Given the description of an element on the screen output the (x, y) to click on. 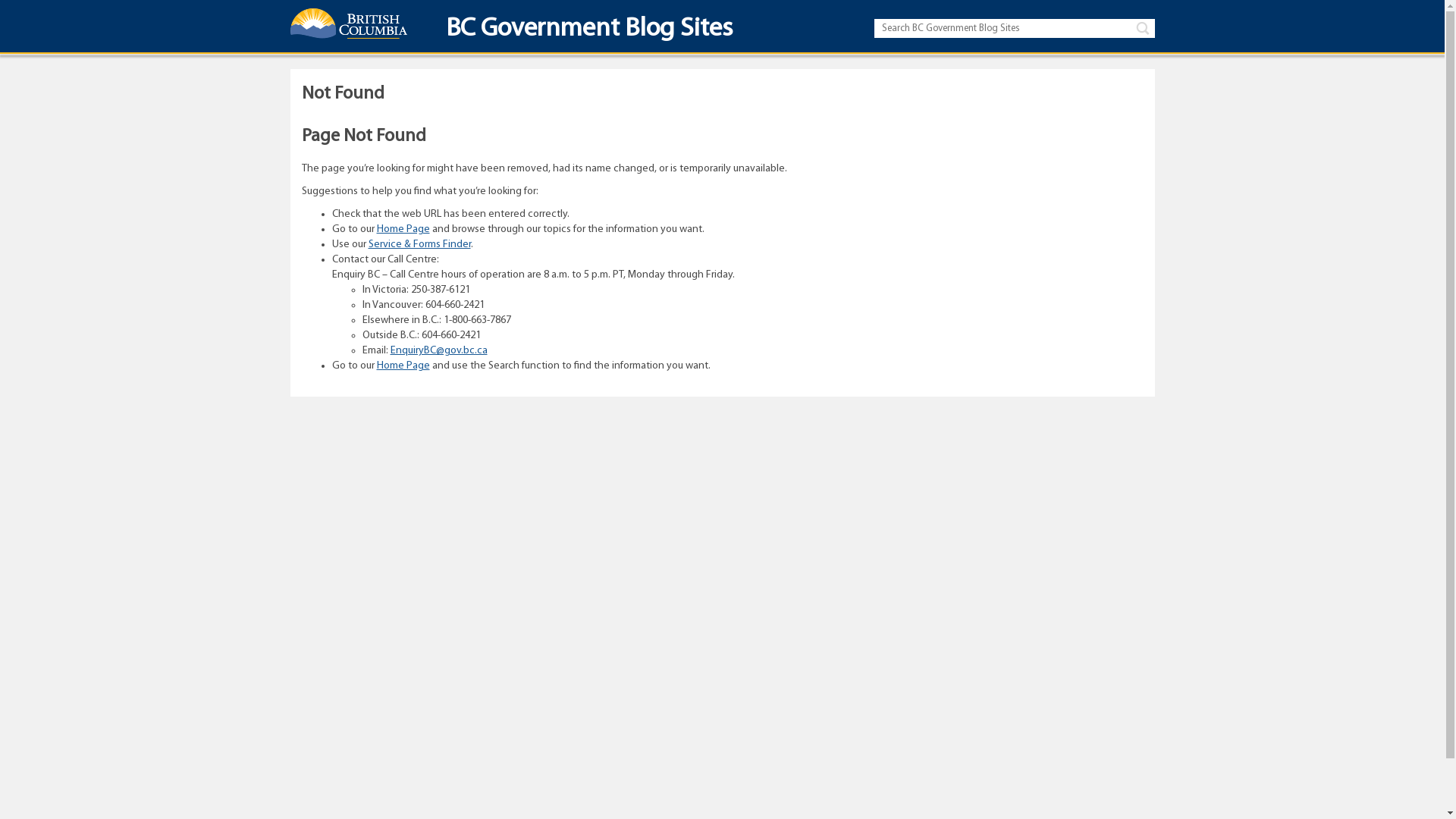
Home Page Element type: text (402, 365)
Service & Forms Finder Element type: text (419, 244)
BC Government Blog Sites Element type: text (582, 32)
EnquiryBC@gov.bc.ca Element type: text (437, 350)
Home Page Element type: text (402, 229)
